Given the description of an element on the screen output the (x, y) to click on. 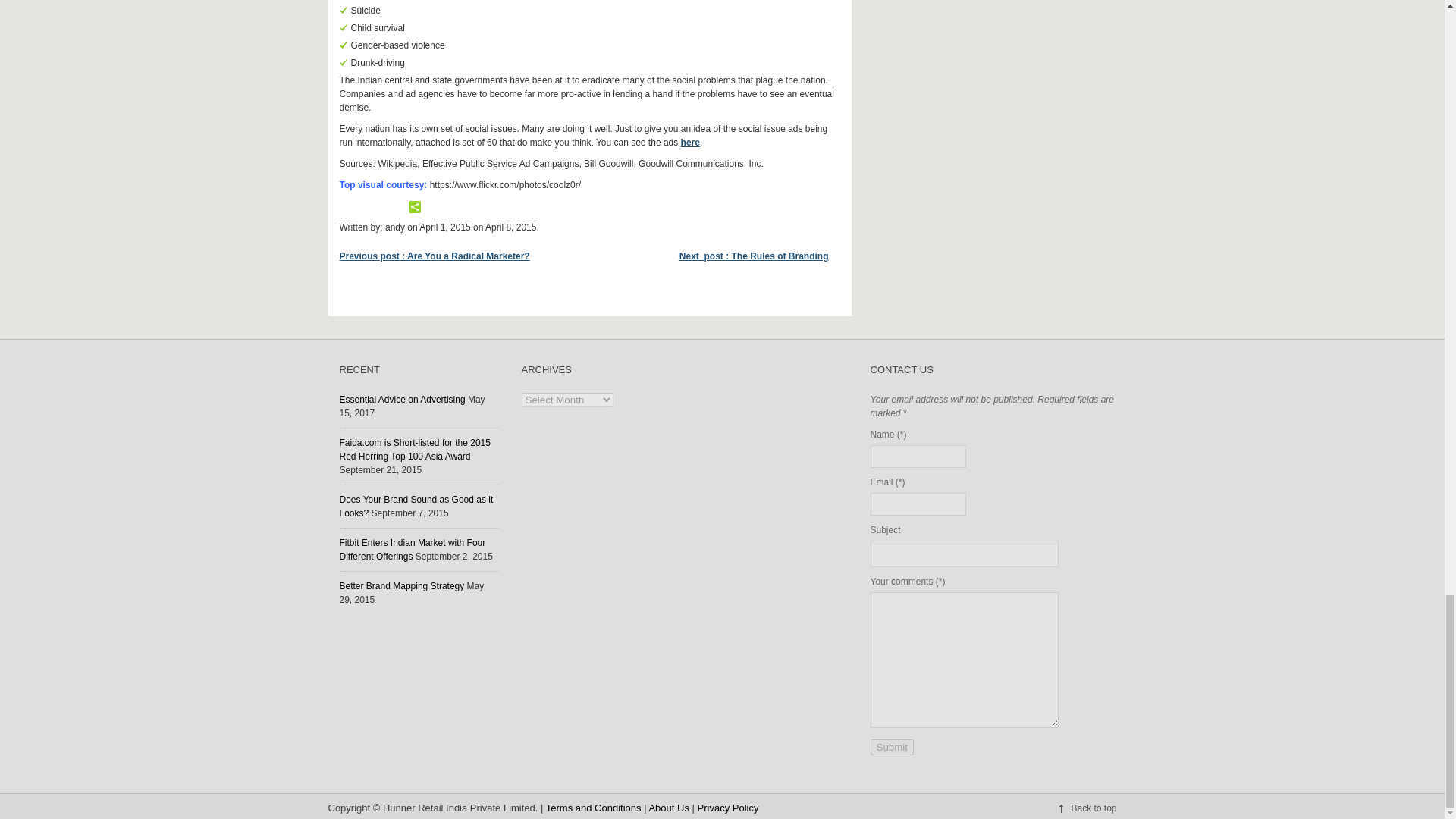
Submit (892, 747)
Previous post : Are You a Radical Marketer? (440, 255)
here (690, 142)
